Given the description of an element on the screen output the (x, y) to click on. 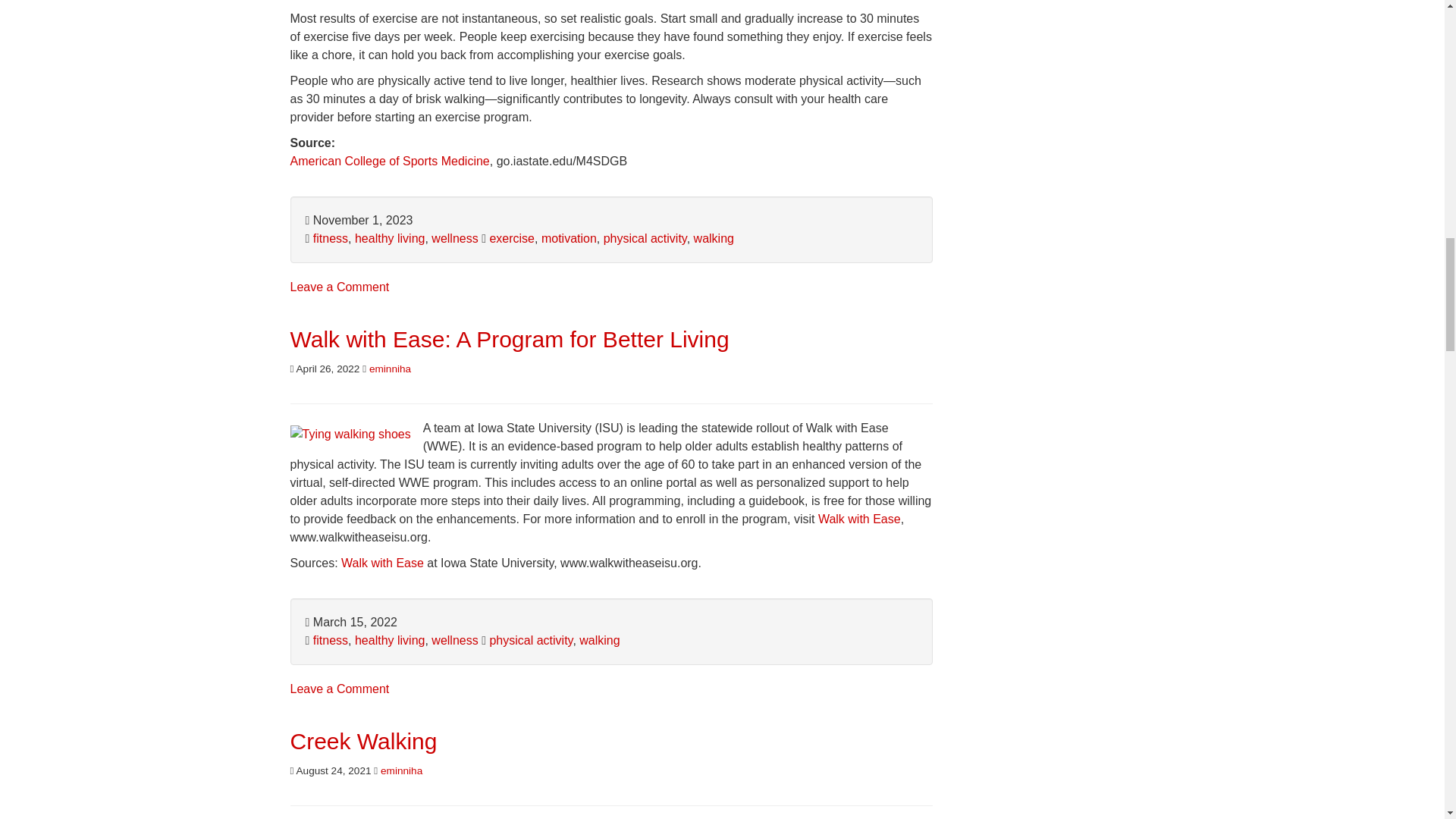
Posted On (330, 769)
Posted On (324, 367)
Last Updated (350, 621)
Last Updated (358, 219)
